Given the description of an element on the screen output the (x, y) to click on. 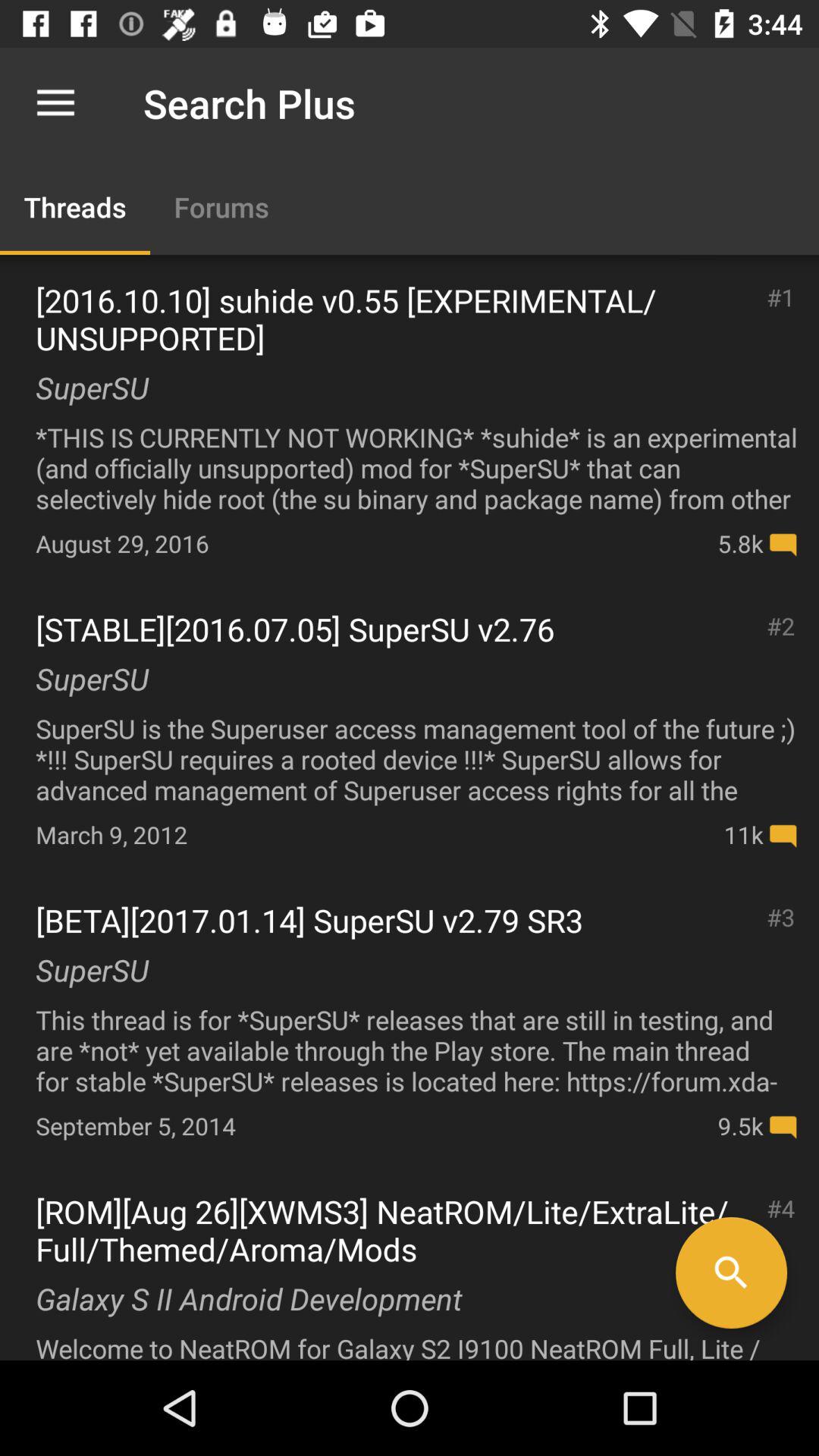
press the icon to the left of the search plus icon (55, 103)
